Given the description of an element on the screen output the (x, y) to click on. 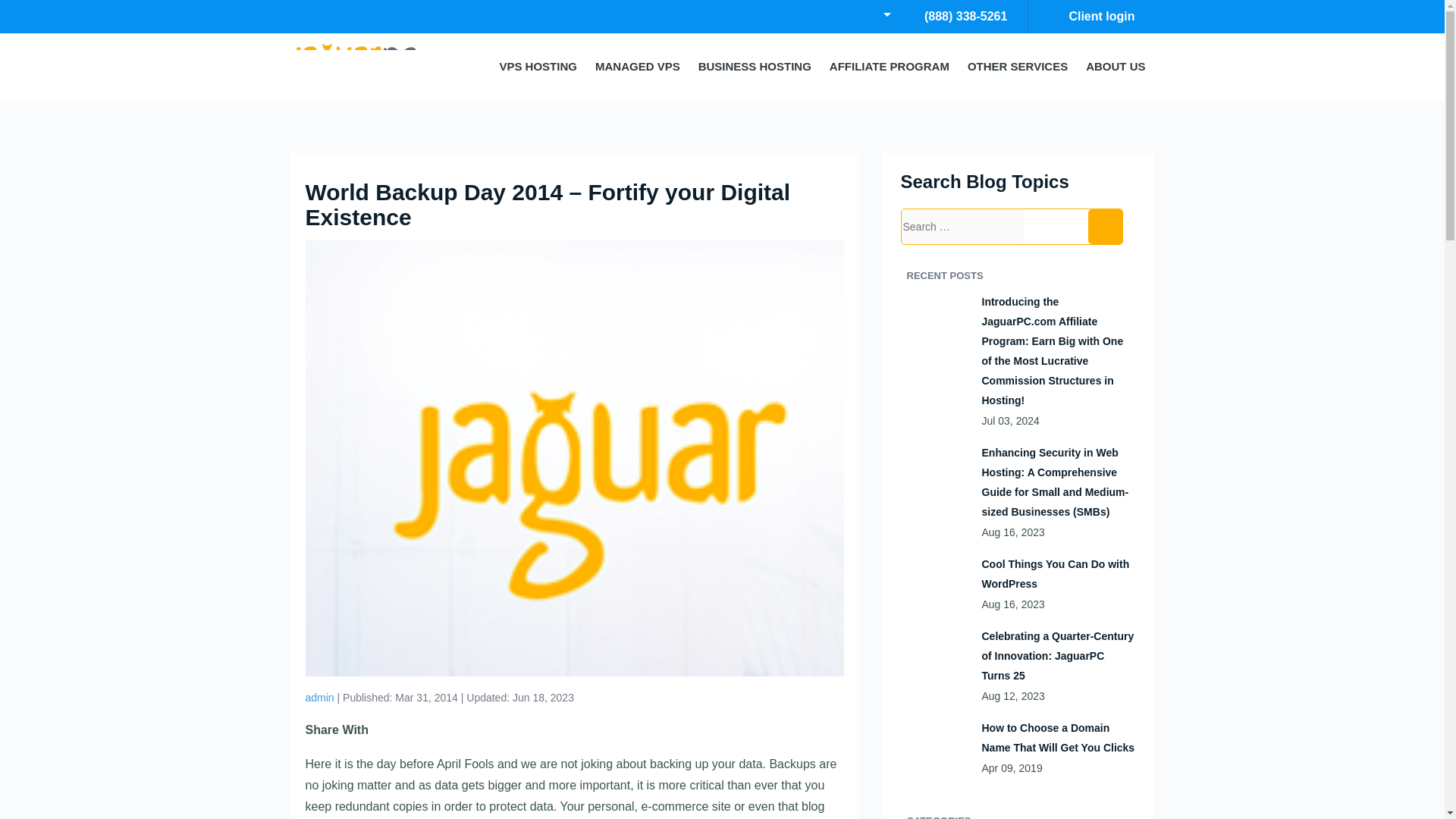
OTHER SERVICES (1017, 66)
AFFILIATE PROGRAM (1090, 16)
BUSINESS HOSTING (889, 66)
MANAGED VPS (754, 66)
ABOUT US (637, 66)
VPS HOSTING (1115, 66)
admin (537, 66)
